Given the description of an element on the screen output the (x, y) to click on. 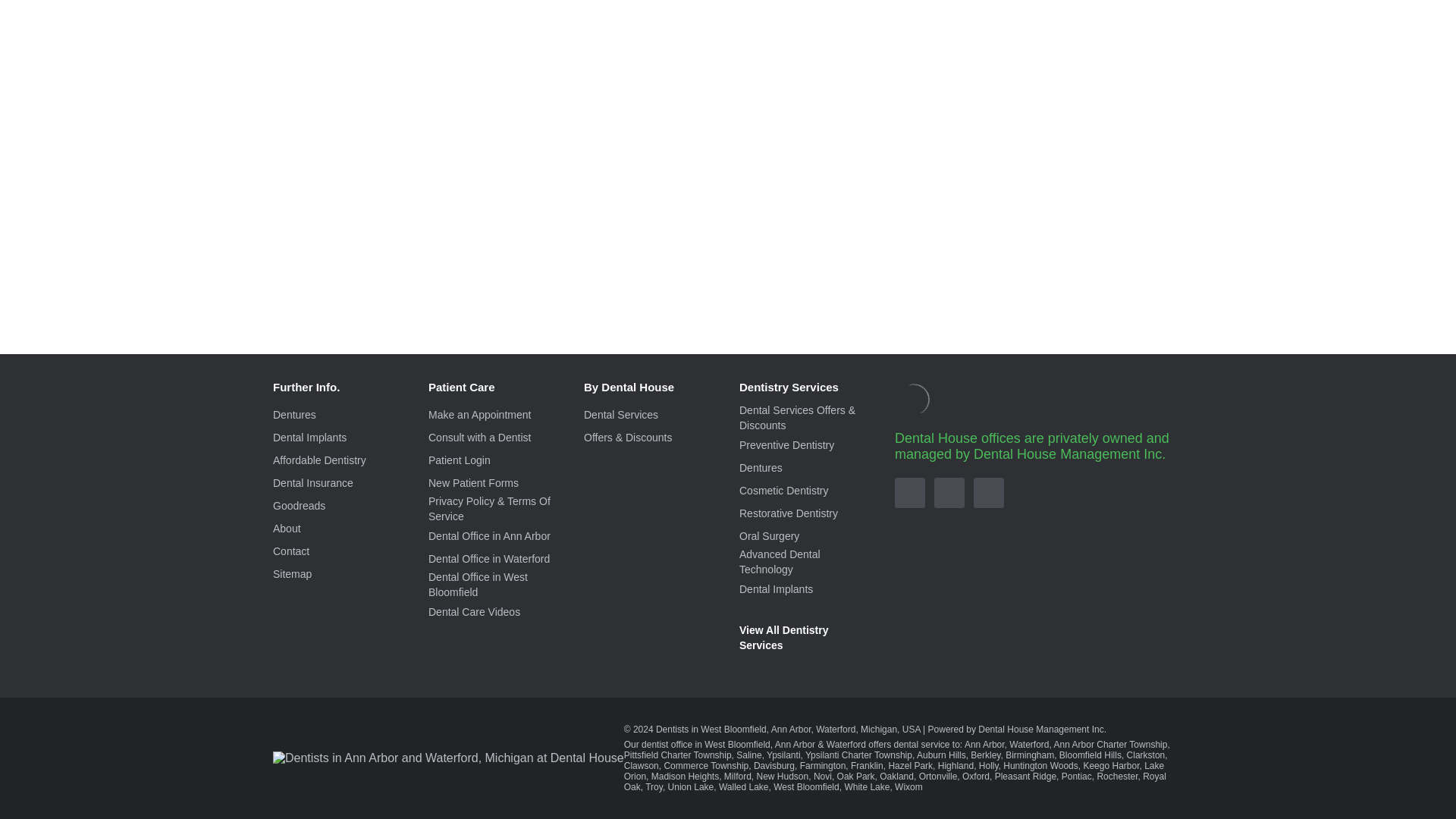
Dentist in Waterford, MI (807, 755)
Dentist in Ypsilanti, MI (1109, 755)
Dentist in Ann Arbor, MI (761, 755)
Dentist in Clarkston, MI (705, 765)
Dentist in Bloomfield Hills, MI (649, 765)
Dentist in Ypsilanti Charter Township, MI (782, 760)
Dentist in Ann Arbor Charter Township, MI (887, 755)
Dentist in Berkley, MI (545, 765)
Dentist in Birmingham, MI (588, 765)
Dentist in Pittsfield Charter Township, MI (1003, 755)
